Given the description of an element on the screen output the (x, y) to click on. 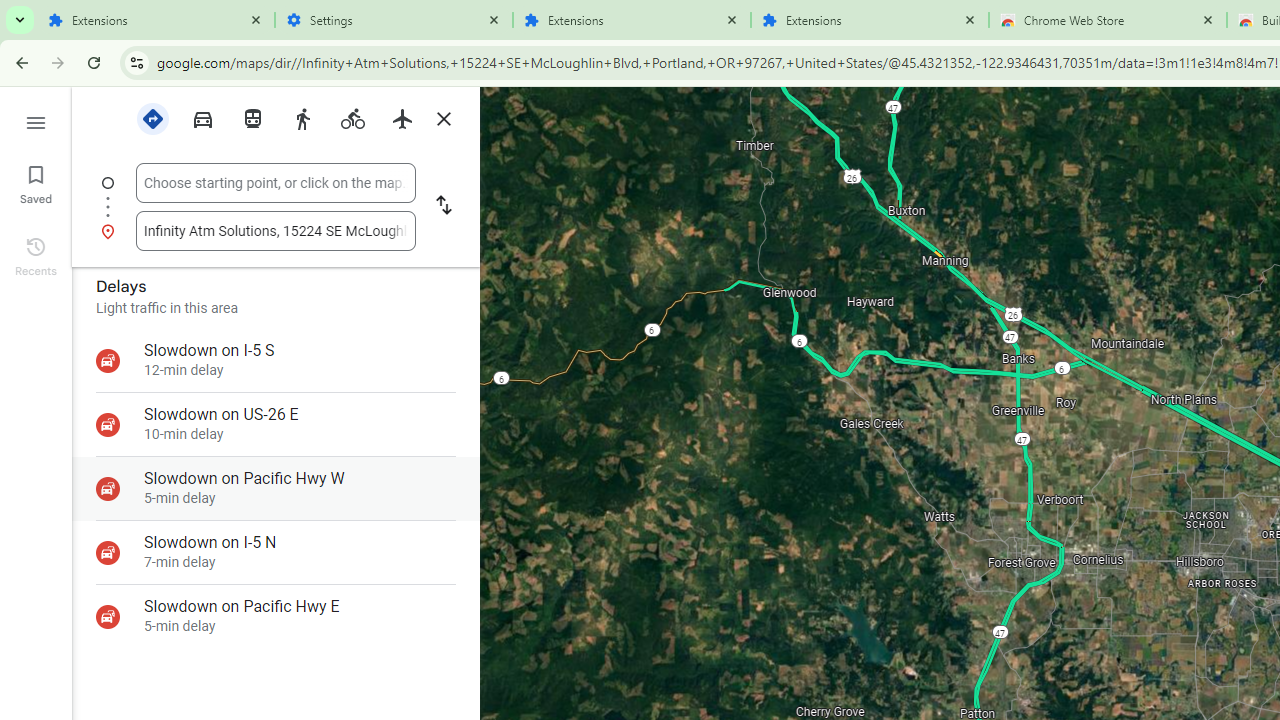
Transit (252, 117)
Flights (402, 119)
Driving (202, 119)
Menu (35, 120)
Best travel modes (152, 117)
Driving (202, 117)
Transit (252, 119)
Flights (402, 117)
